Given the description of an element on the screen output the (x, y) to click on. 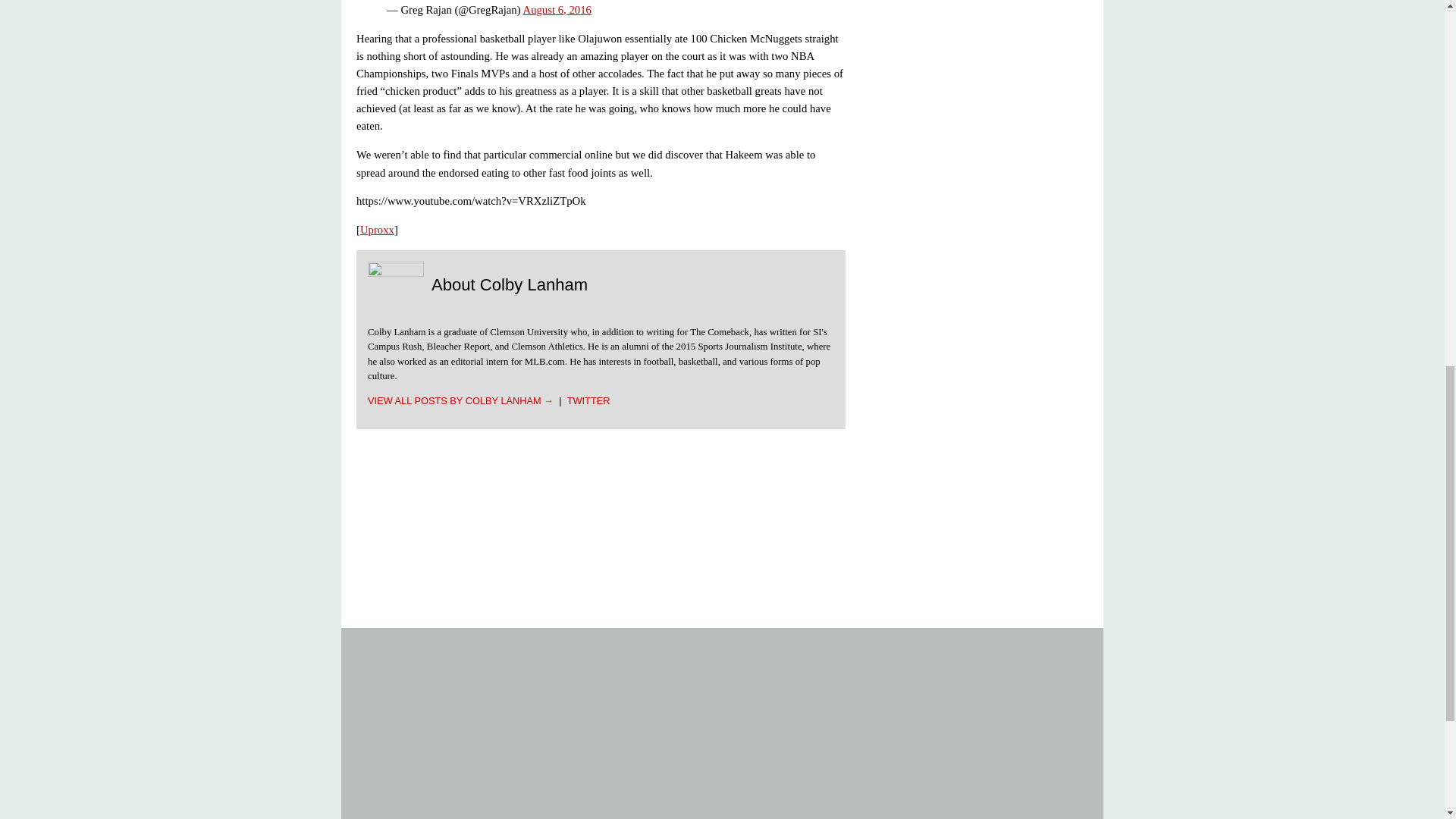
TWITTER (588, 400)
August 6, 2016 (556, 9)
Uproxx (376, 229)
